Given the description of an element on the screen output the (x, y) to click on. 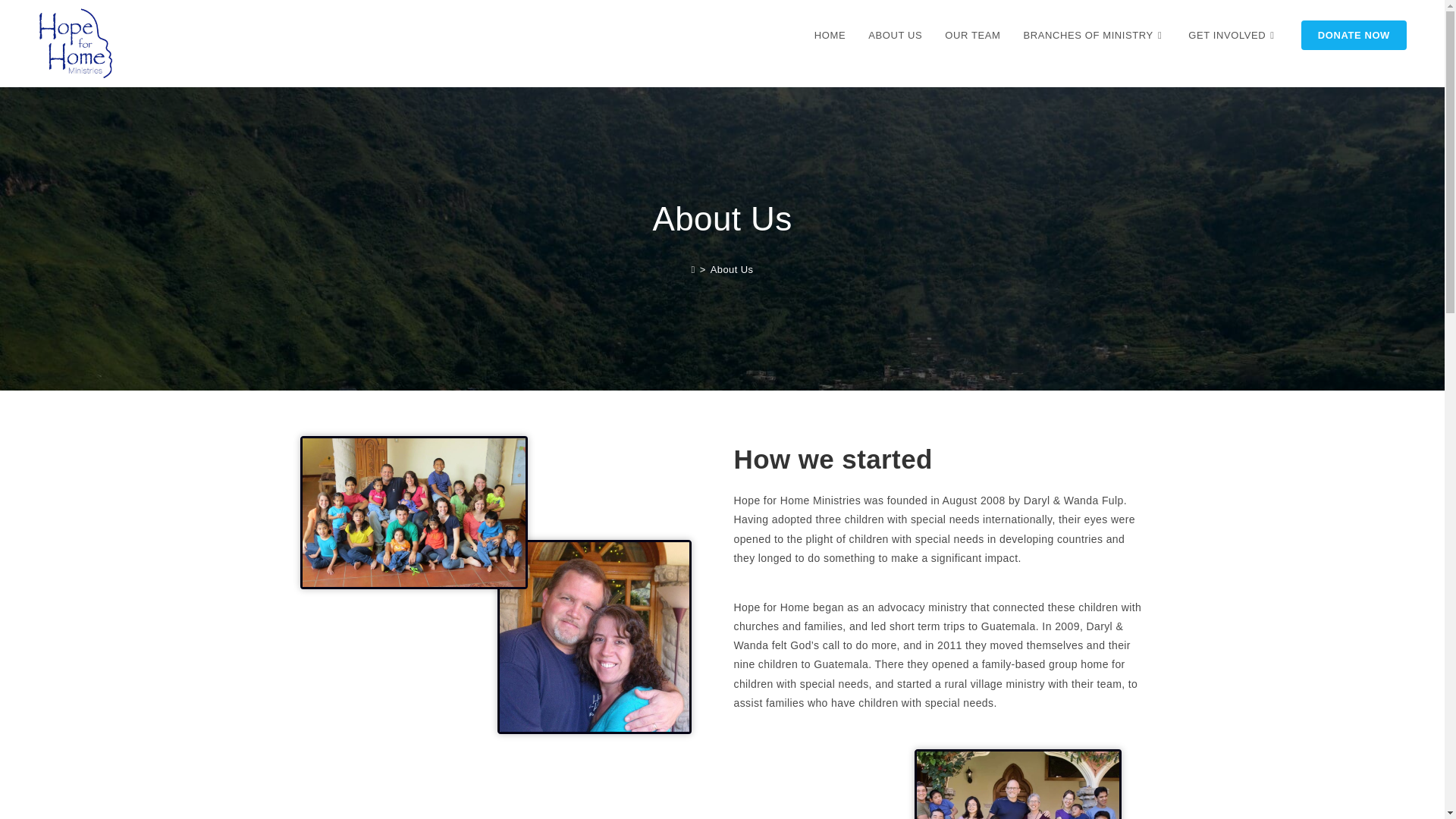
GET INVOLVED (1232, 35)
OUR TEAM (972, 35)
ABOUT US (895, 35)
BRANCHES OF MINISTRY (1093, 35)
DONATE NOW (1354, 35)
About Us (732, 269)
HOME (830, 35)
